Given the description of an element on the screen output the (x, y) to click on. 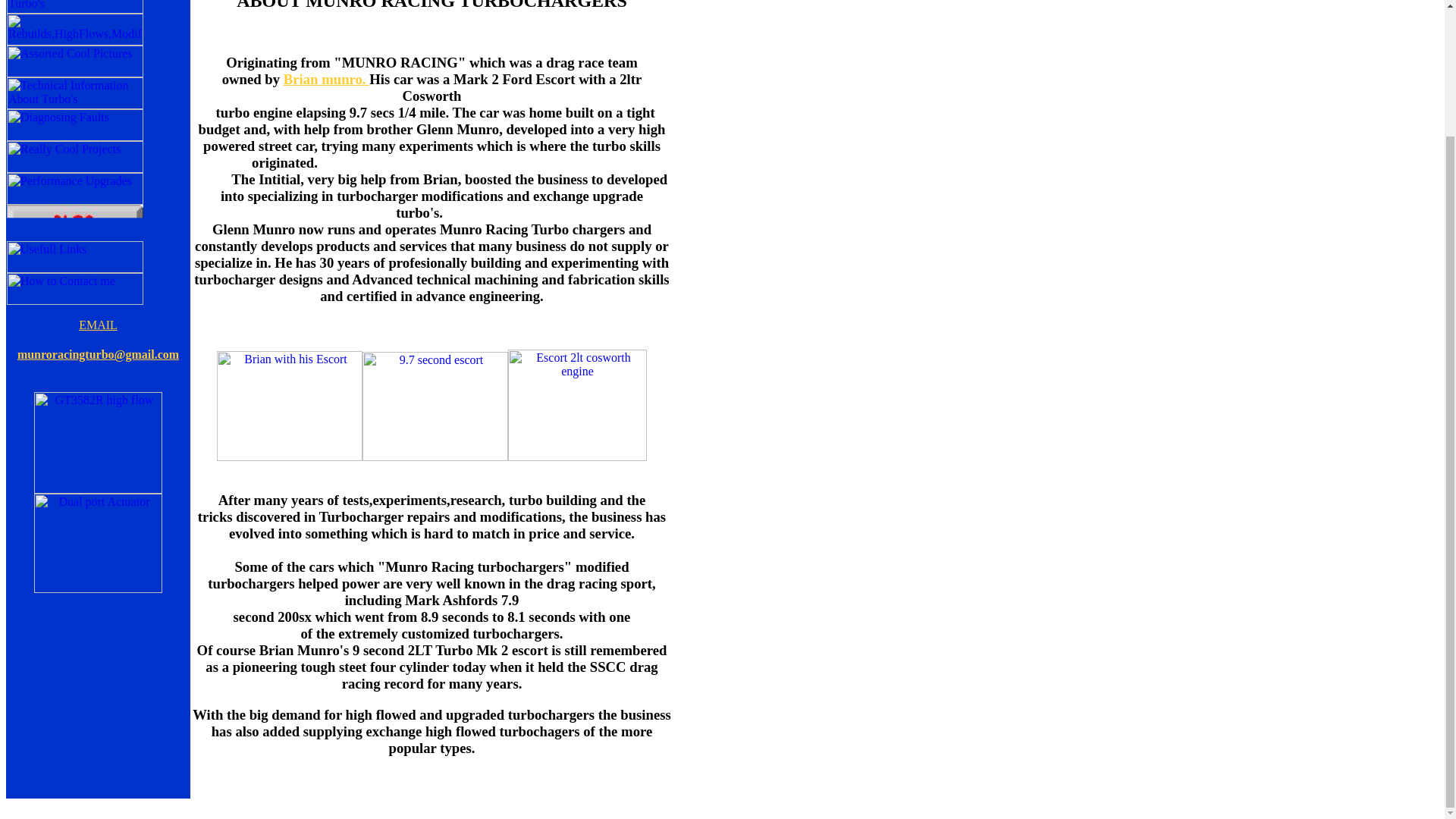
Brian munro. (326, 78)
